Given the description of an element on the screen output the (x, y) to click on. 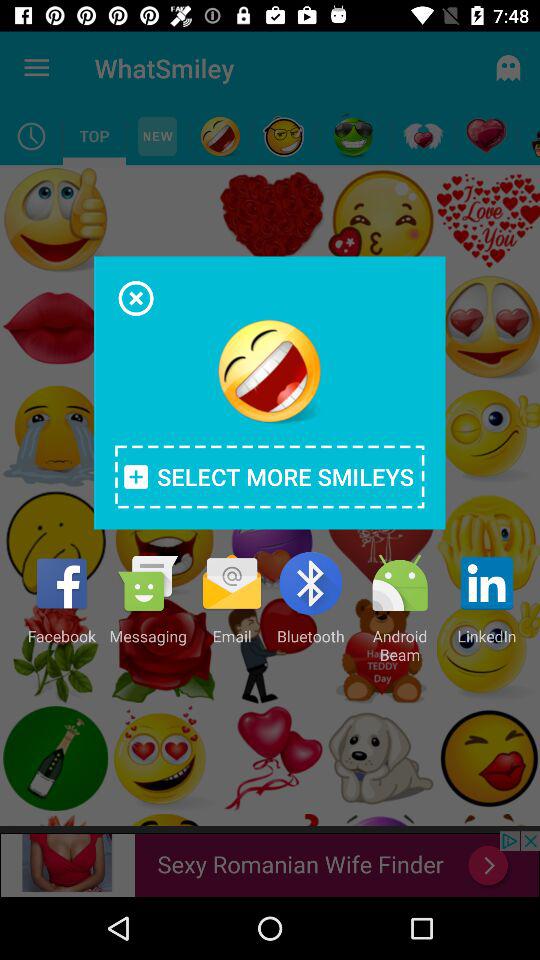
close advertisement (136, 298)
